Given the description of an element on the screen output the (x, y) to click on. 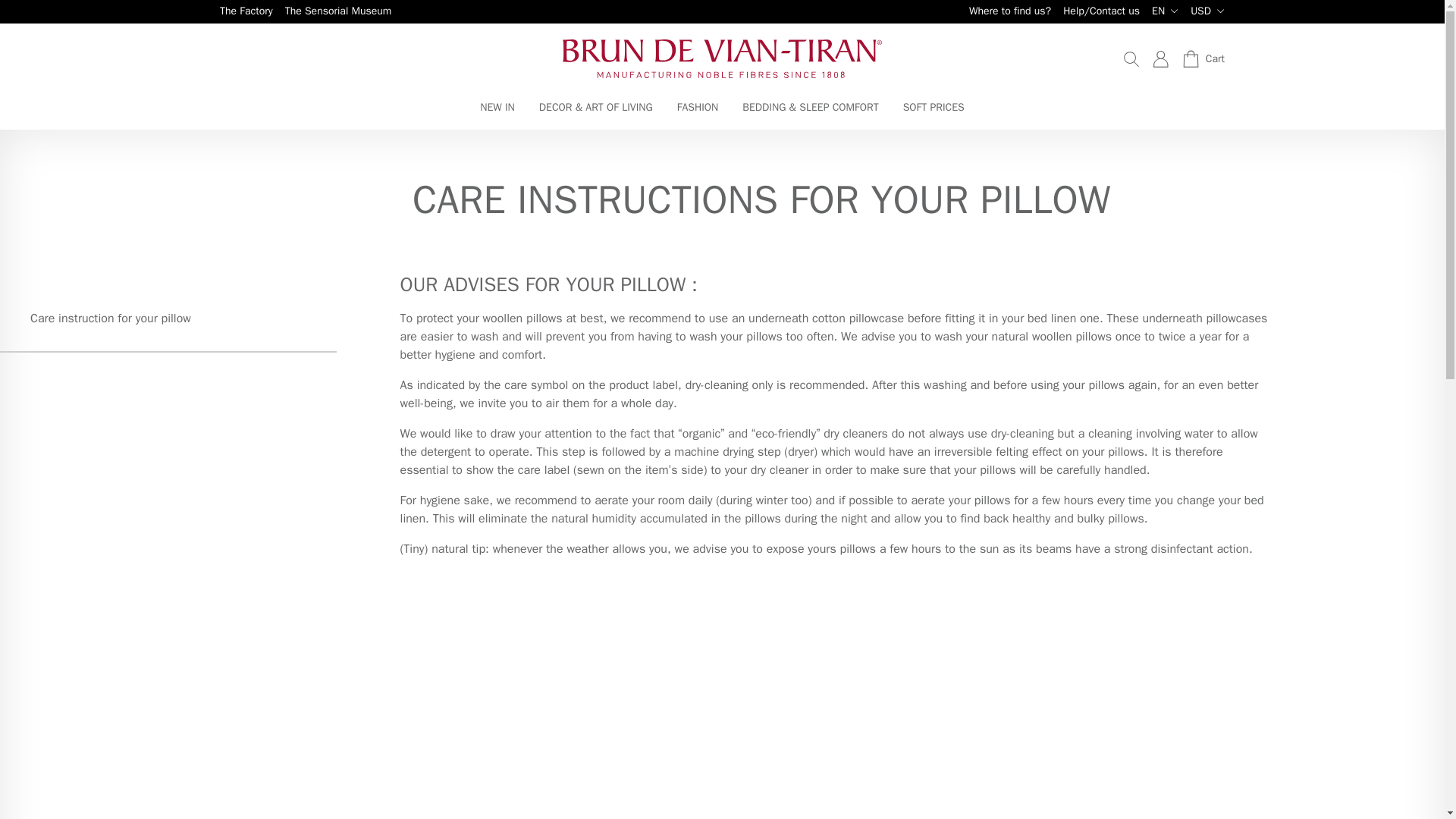
Where to find us? (1010, 11)
USD (1207, 11)
The Factory (246, 11)
My Account (1161, 57)
The Sensorial Museum (338, 11)
Brun de Vian-Tiran (722, 58)
Search (1131, 58)
NEW IN (497, 113)
FASHION (698, 113)
Cart (1202, 58)
